Given the description of an element on the screen output the (x, y) to click on. 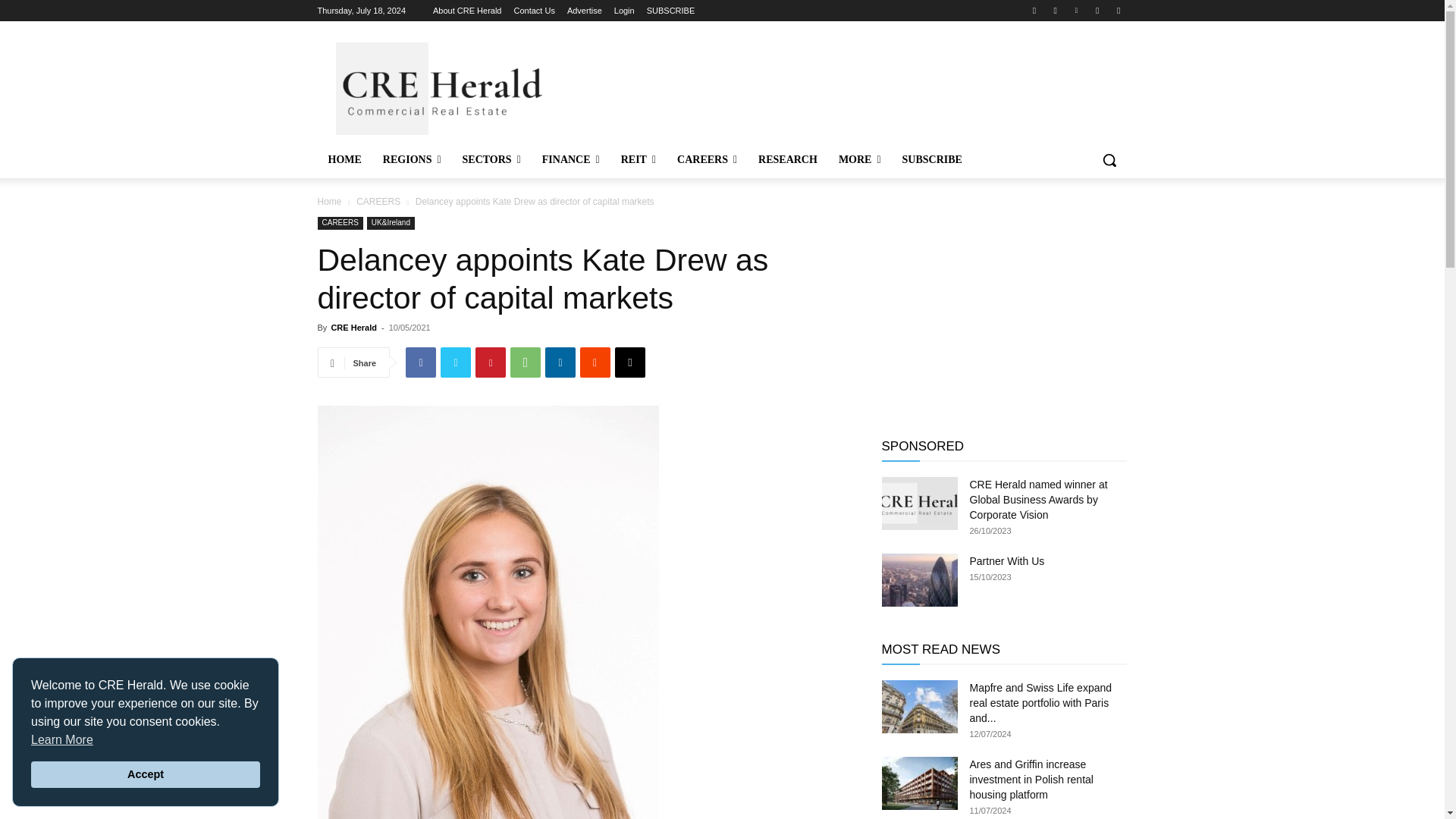
Linkedin (1075, 9)
Twitter (1117, 9)
Facebook (1034, 9)
Accept (145, 774)
HOME (344, 159)
Instagram (1055, 9)
SUBSCRIBE (670, 10)
About CRE Herald (467, 10)
Advertise (584, 10)
REGIONS (411, 159)
Learn More (61, 740)
Contact Us (533, 10)
Login (624, 10)
RSS (1097, 9)
